Given the description of an element on the screen output the (x, y) to click on. 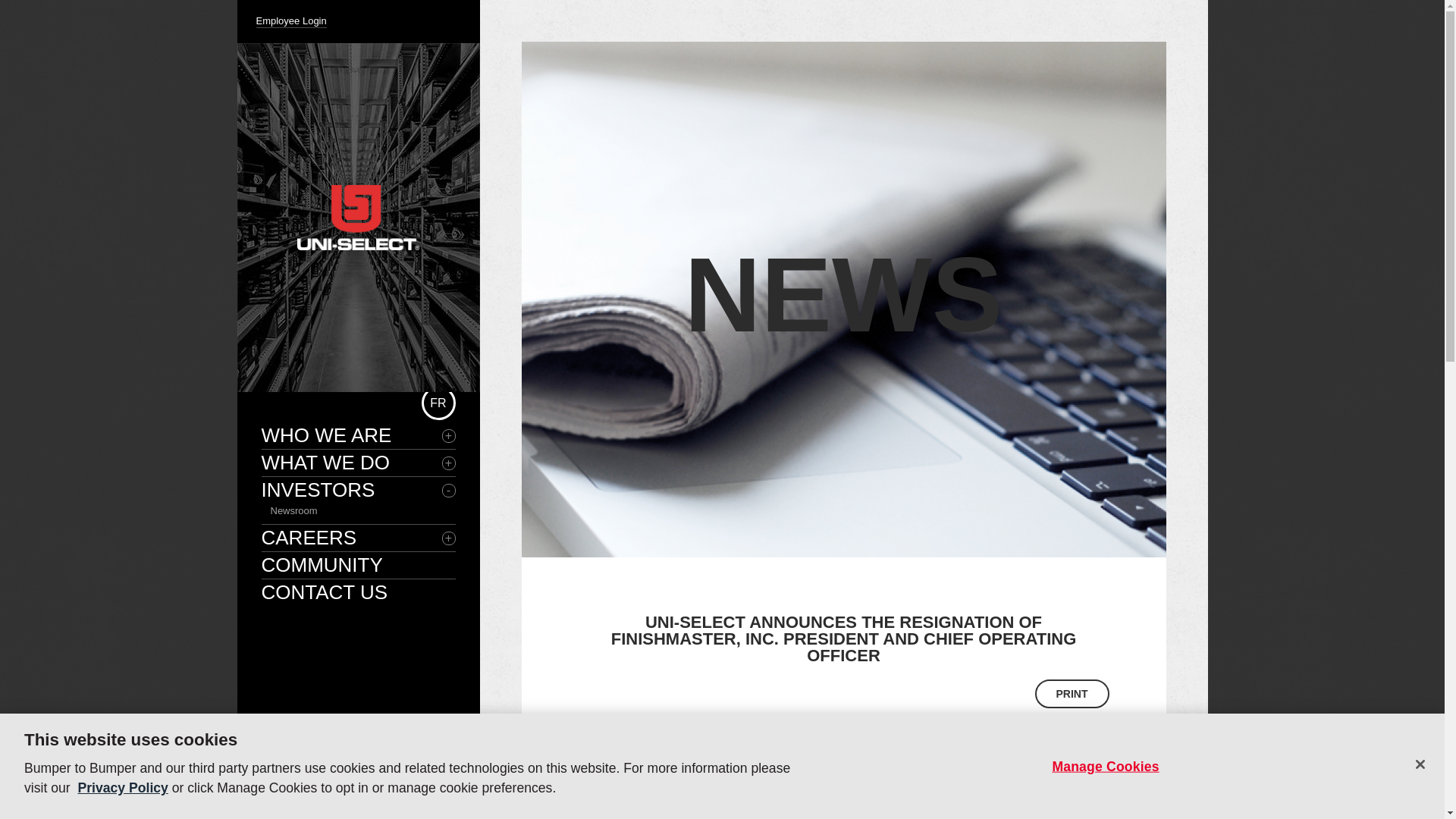
CAREERS (357, 537)
CONTACT US (357, 592)
COMMUNITY (357, 565)
Uni-Select (357, 217)
PRINT (1070, 693)
INVESTORS (357, 490)
Employee Login (291, 21)
FR (438, 402)
WHO WE ARE (357, 435)
WHAT WE DO (357, 463)
Newsroom (293, 510)
